Given the description of an element on the screen output the (x, y) to click on. 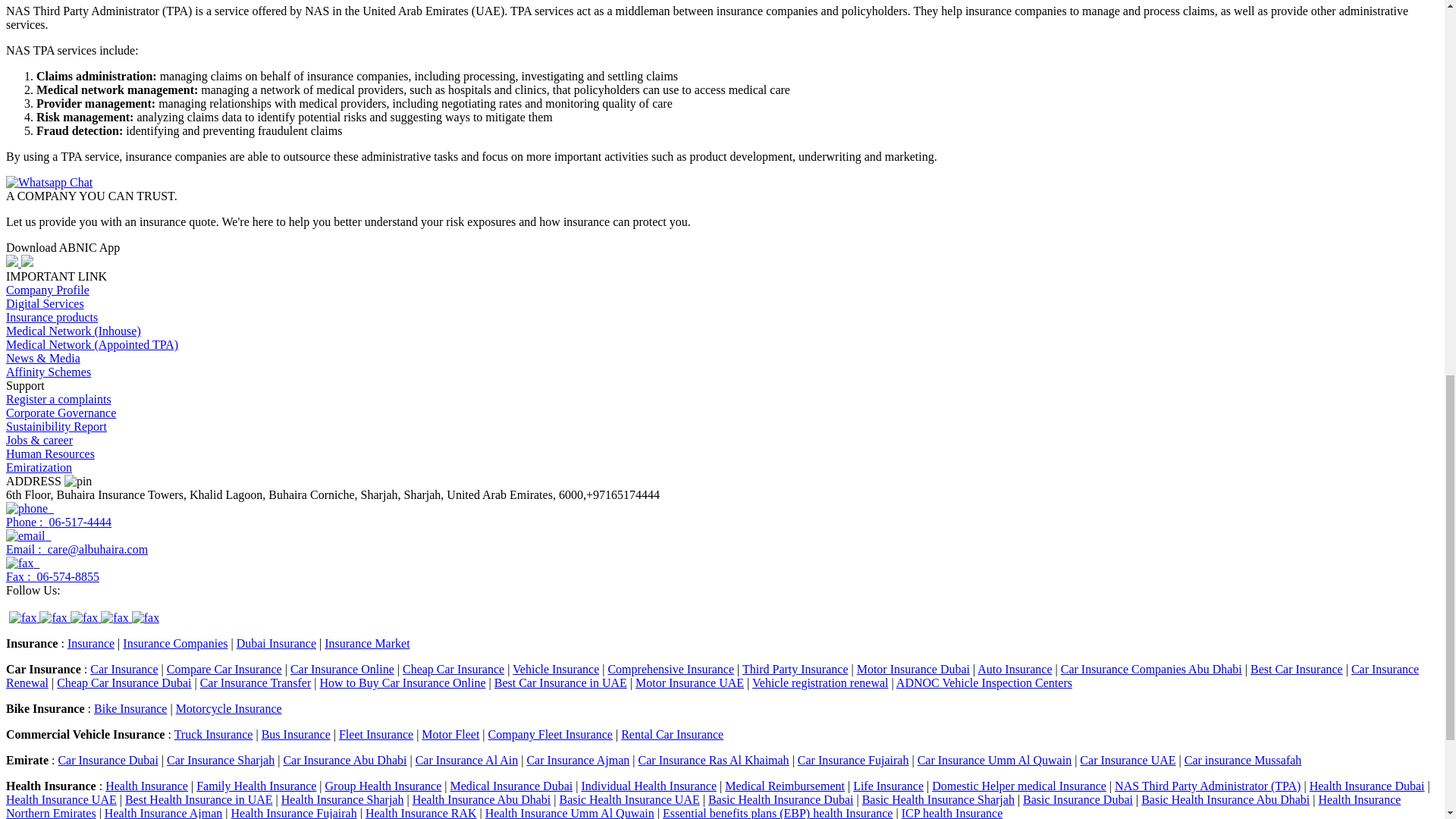
Facebook (23, 617)
Instagram (115, 617)
Twitter (84, 617)
Whatsapp (145, 617)
LinkedIn (54, 617)
